Given the description of an element on the screen output the (x, y) to click on. 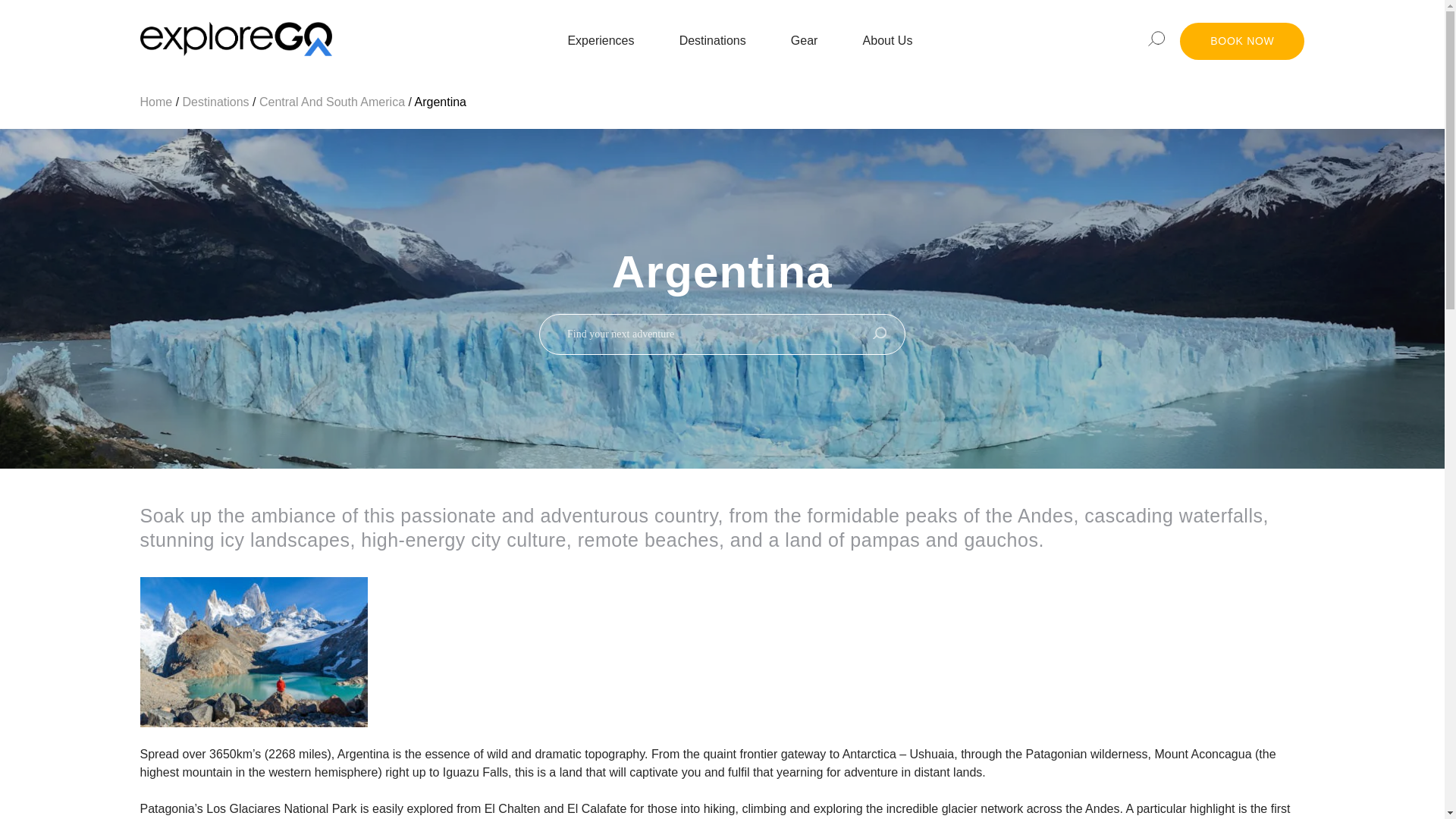
Destinations (712, 41)
Experiences (600, 41)
